Given the description of an element on the screen output the (x, y) to click on. 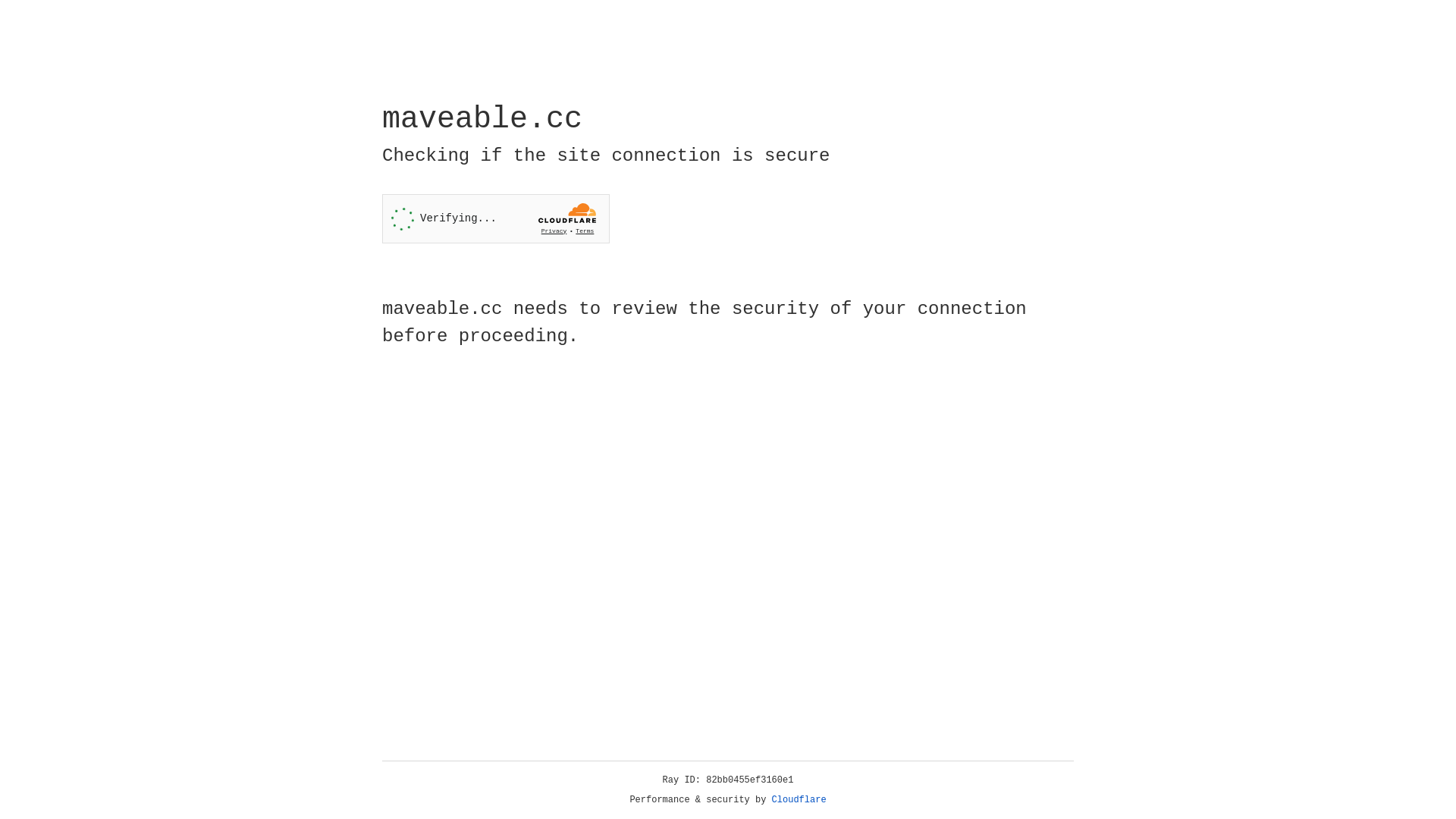
Widget containing a Cloudflare security challenge Element type: hover (495, 218)
Cloudflare Element type: text (798, 799)
